Given the description of an element on the screen output the (x, y) to click on. 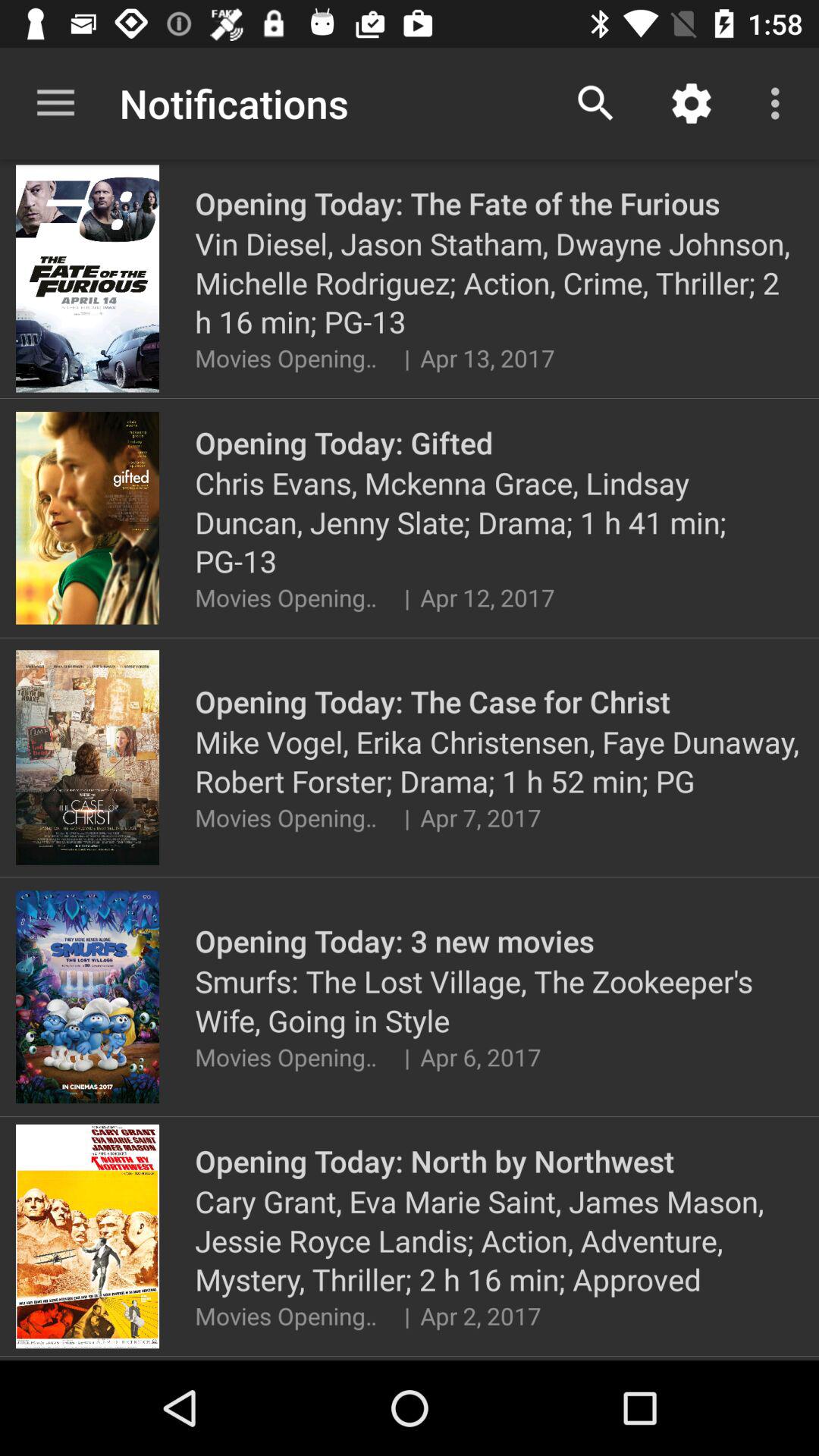
select the icon to the left of the apr 7, 2017 (407, 817)
